Given the description of an element on the screen output the (x, y) to click on. 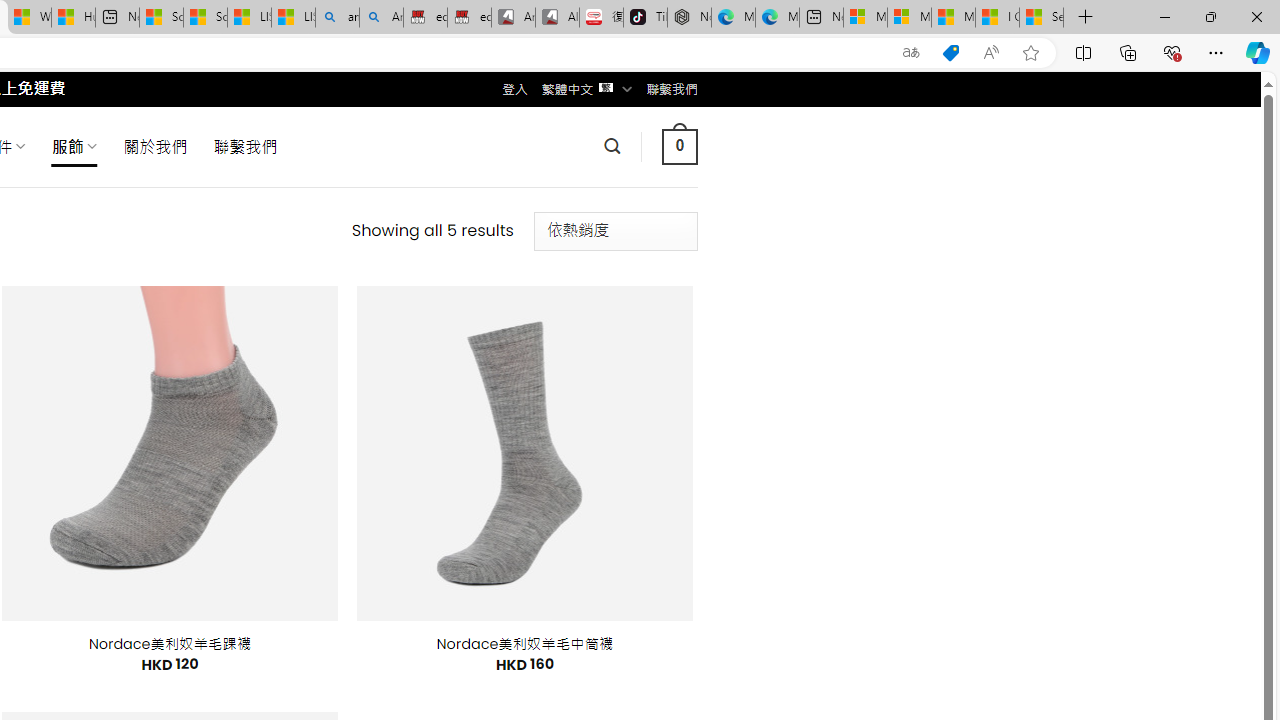
  0   (679, 146)
Amazon Echo Dot PNG - Search Images (381, 17)
